Given the description of an element on the screen output the (x, y) to click on. 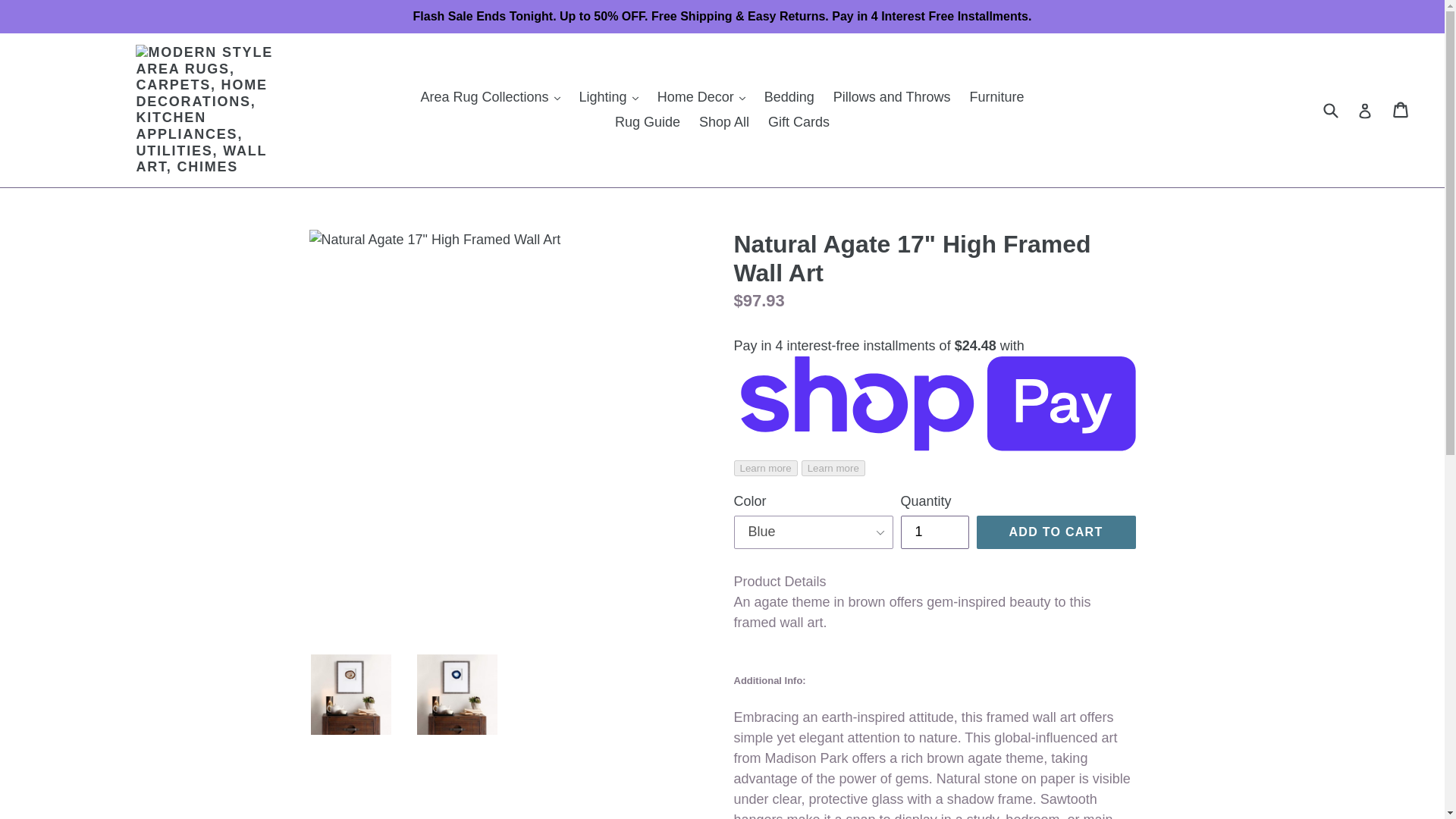
1 (935, 531)
